Given the description of an element on the screen output the (x, y) to click on. 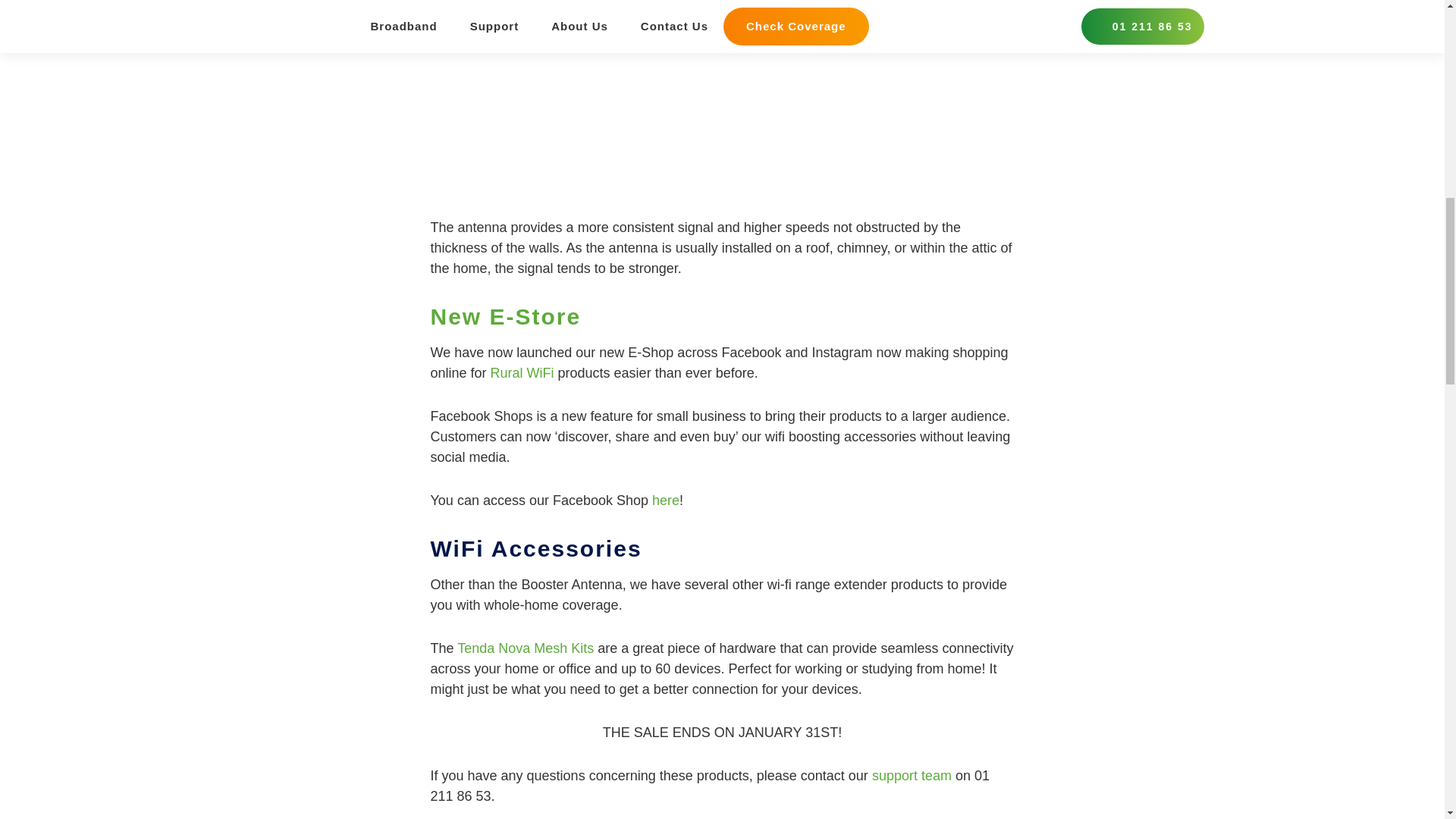
Tenda Nova Mesh Kits  (526, 648)
here (665, 500)
support team (912, 775)
New E-Store (505, 316)
Rural WiFi (522, 372)
Booster Antenna (551, 22)
